Given the description of an element on the screen output the (x, y) to click on. 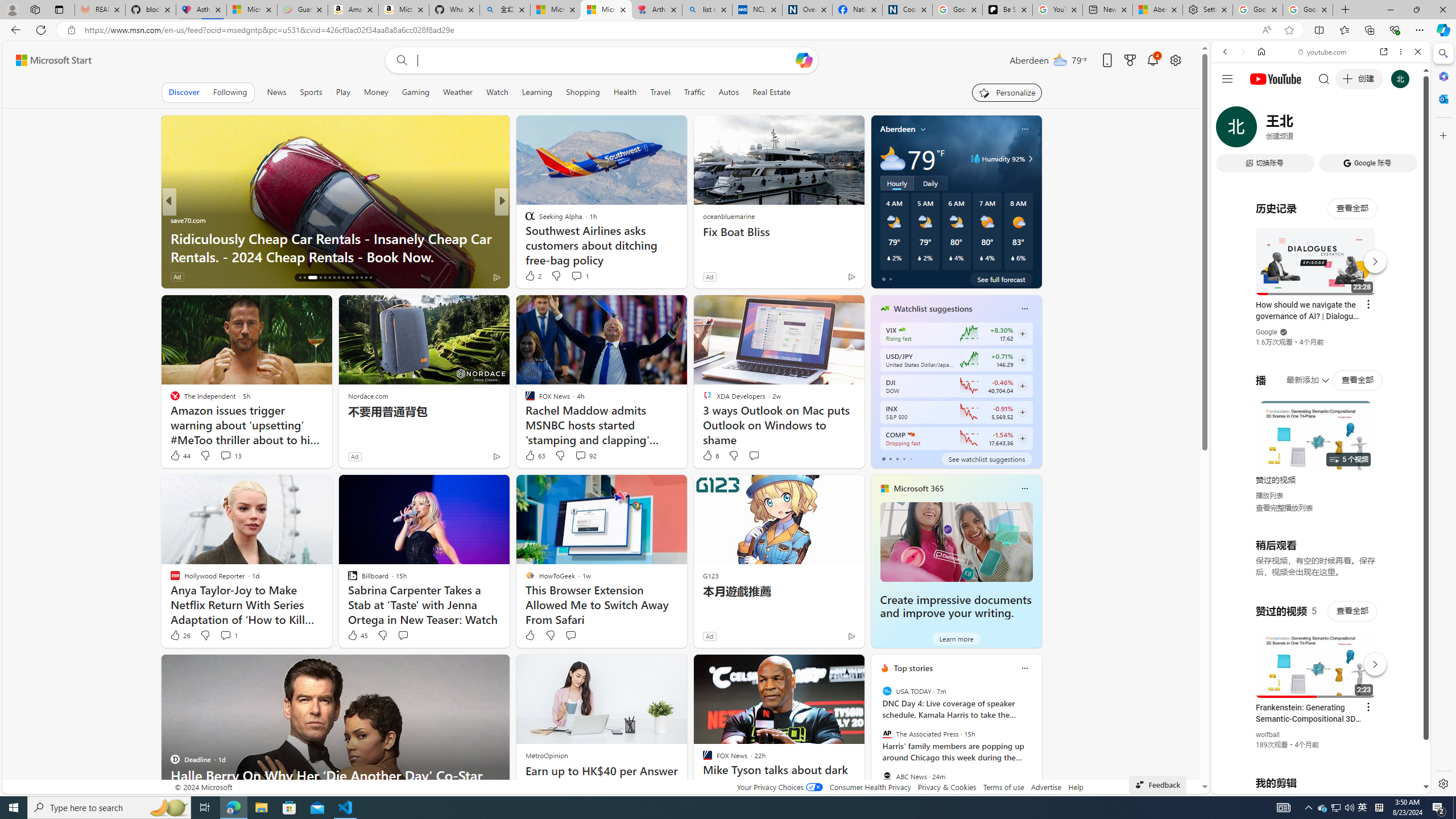
51 Like (530, 276)
HowToGeek (524, 219)
View comments 1 Comment (225, 635)
125 Like (532, 276)
Personalize your feed" (1007, 92)
Your Privacy Choices (779, 786)
View comments 92 Comment (585, 455)
